Given the description of an element on the screen output the (x, y) to click on. 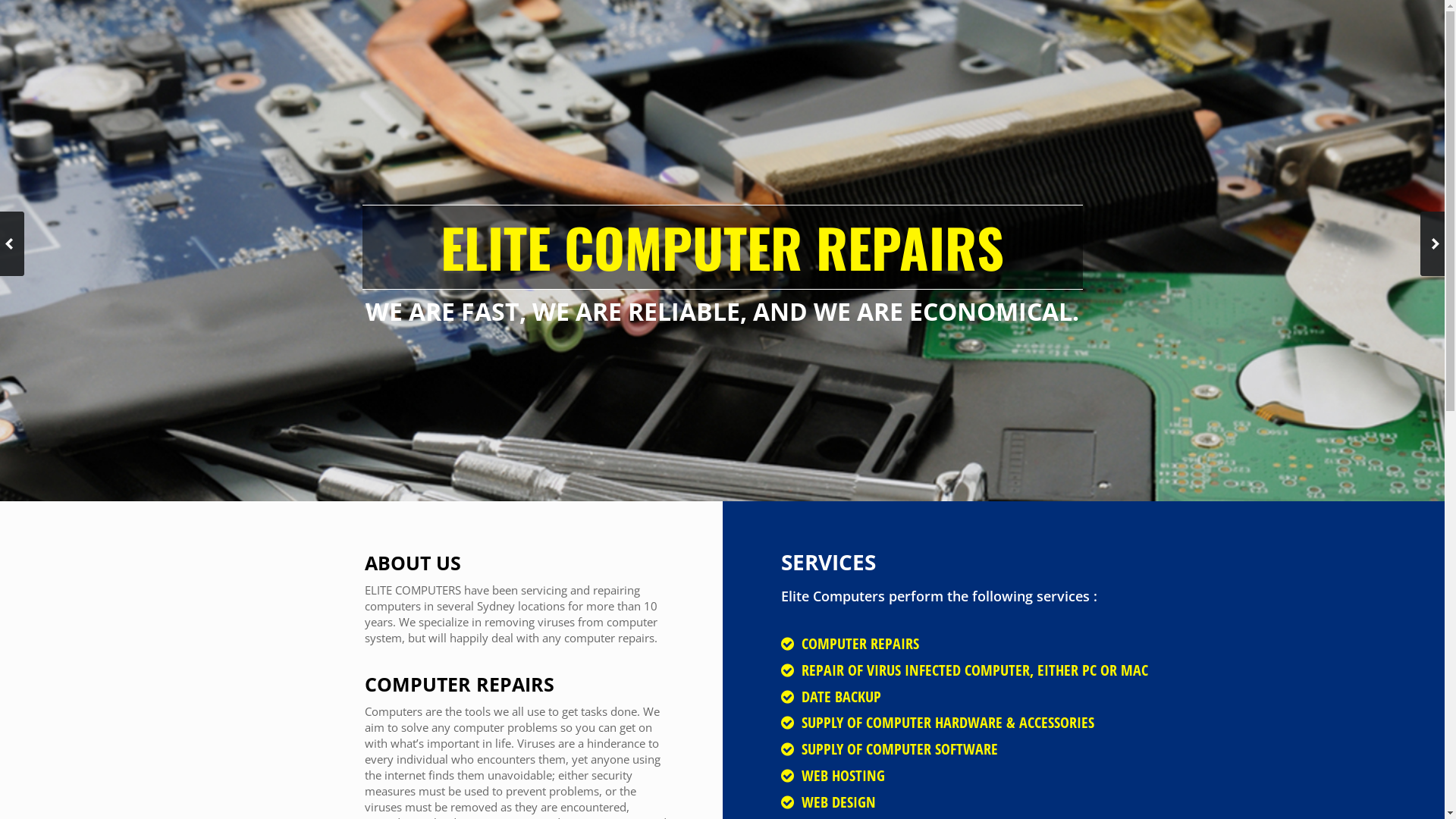
< Element type: text (12, 243)
> Element type: text (1432, 243)
